Given the description of an element on the screen output the (x, y) to click on. 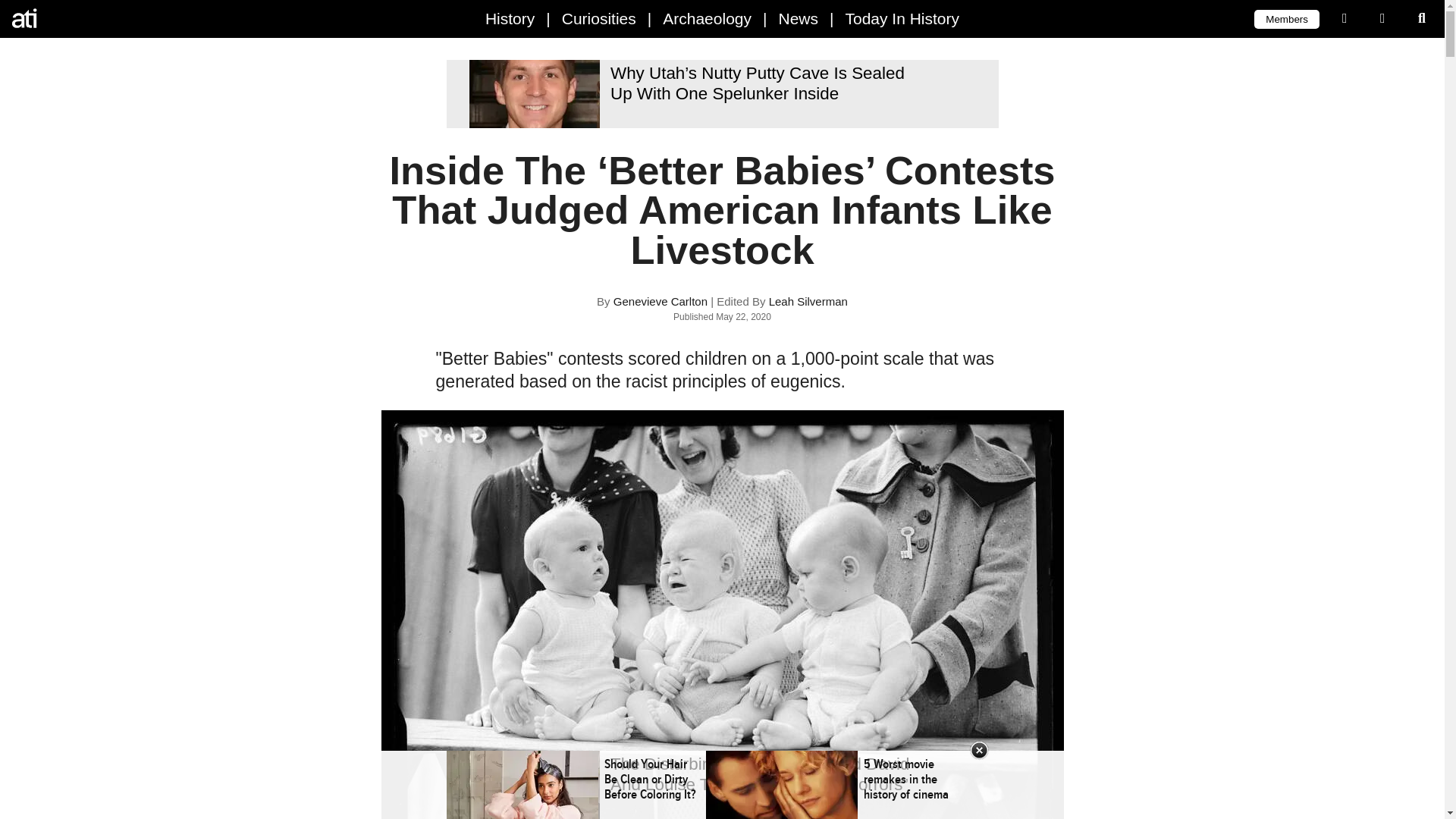
All That's Interesting (75, 18)
Archaeology (706, 18)
Members (1286, 18)
Today In History (901, 18)
History (510, 18)
Genevieve Carlton (659, 300)
News (798, 18)
Curiosities (598, 18)
Leah Silverman (807, 300)
